Given the description of an element on the screen output the (x, y) to click on. 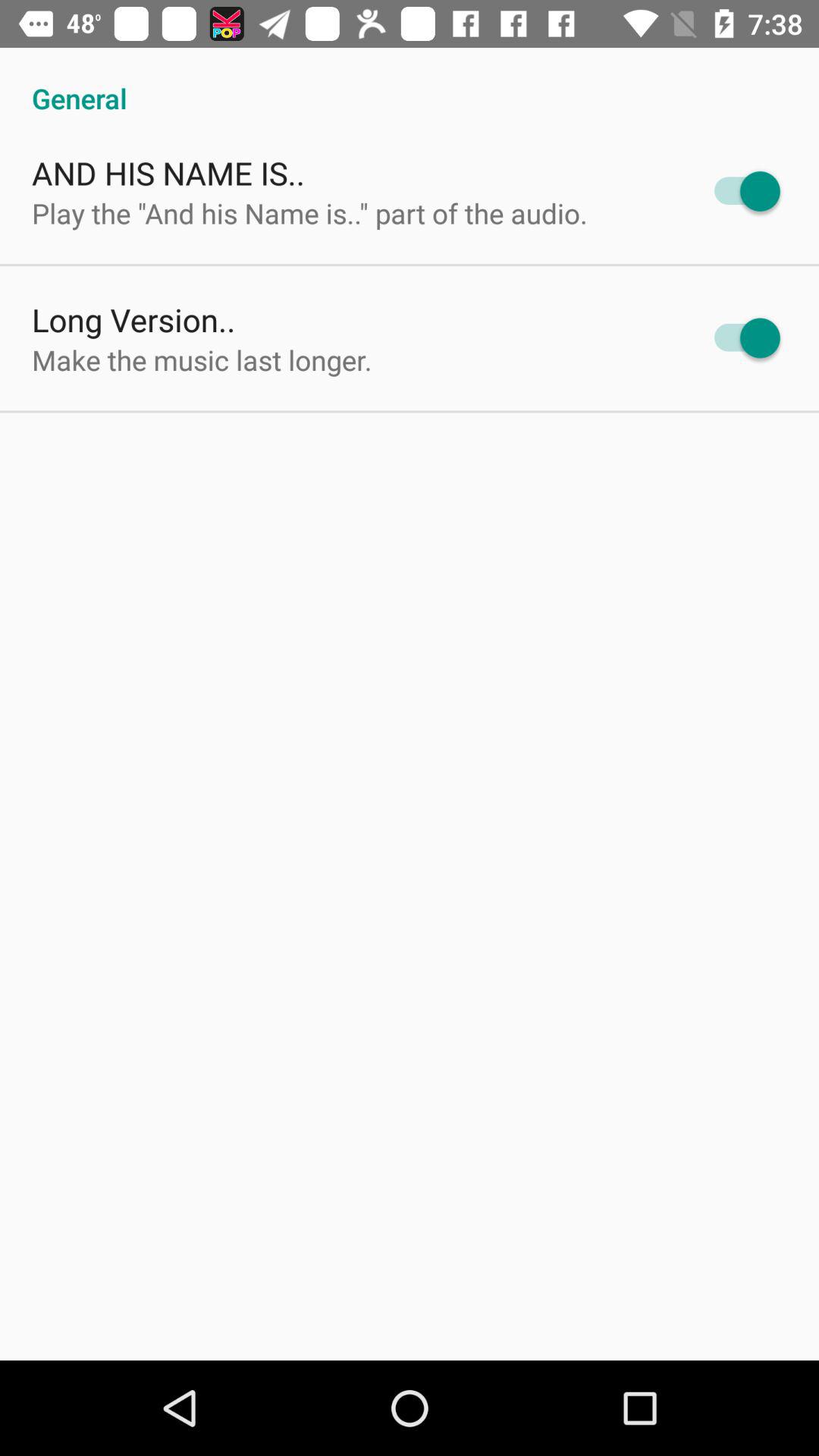
turn on the icon below the and his name (309, 213)
